Given the description of an element on the screen output the (x, y) to click on. 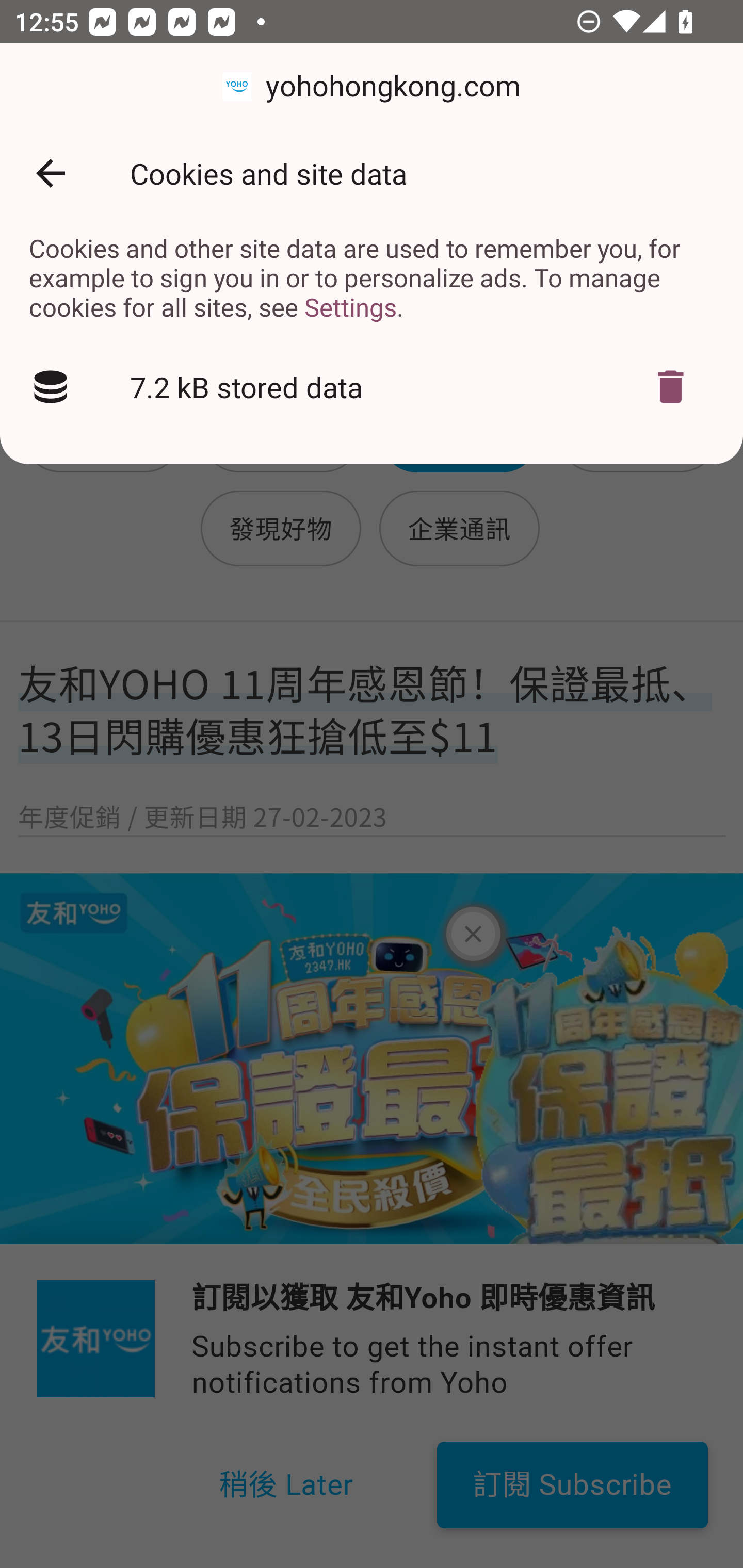
yohohongkong.com (371, 86)
Back (50, 173)
7.2 kB stored data Delete cookies? (371, 386)
